Given the description of an element on the screen output the (x, y) to click on. 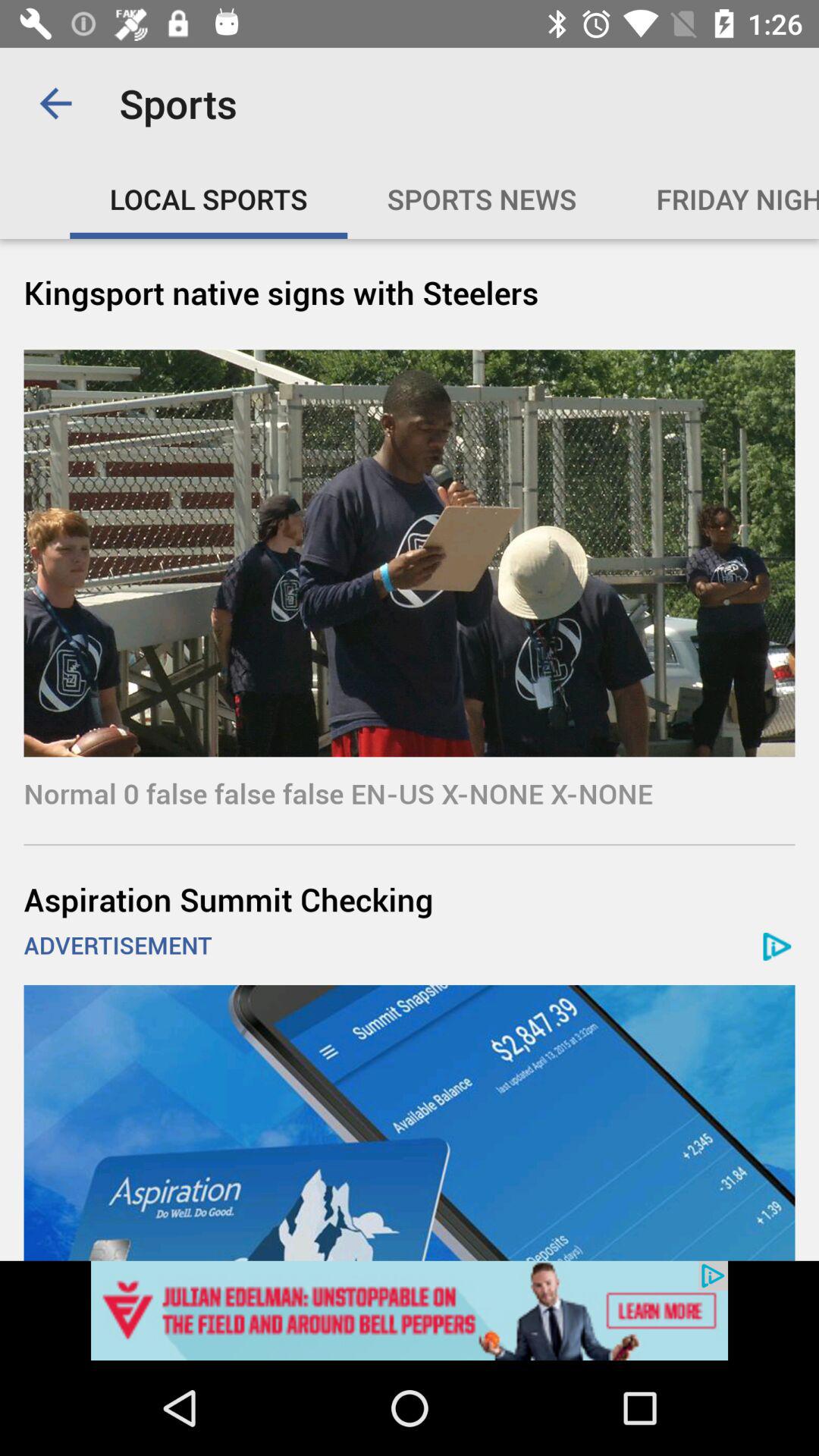
go to advertisement (409, 1310)
